Given the description of an element on the screen output the (x, y) to click on. 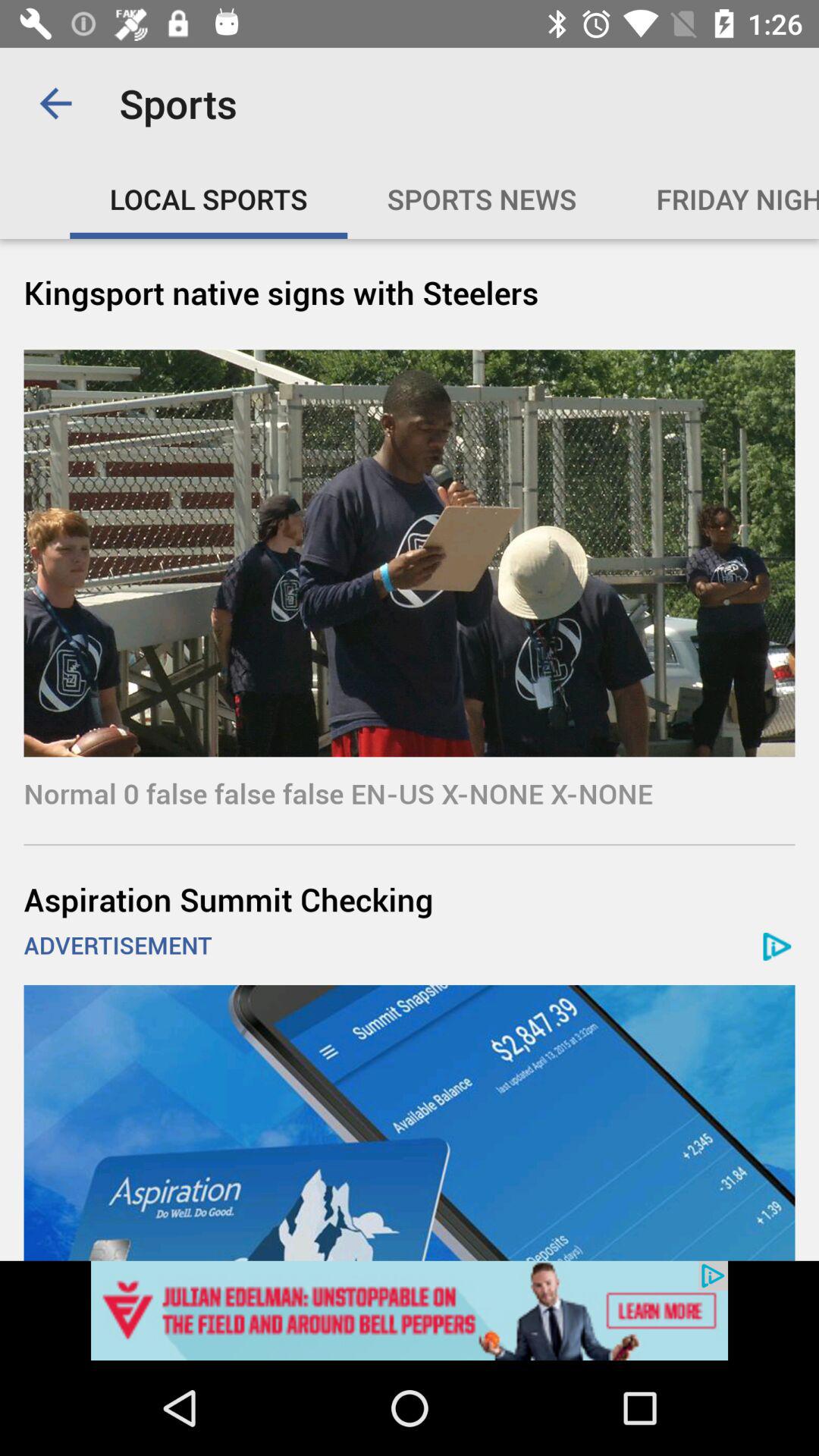
go to advertisement (409, 1310)
